Given the description of an element on the screen output the (x, y) to click on. 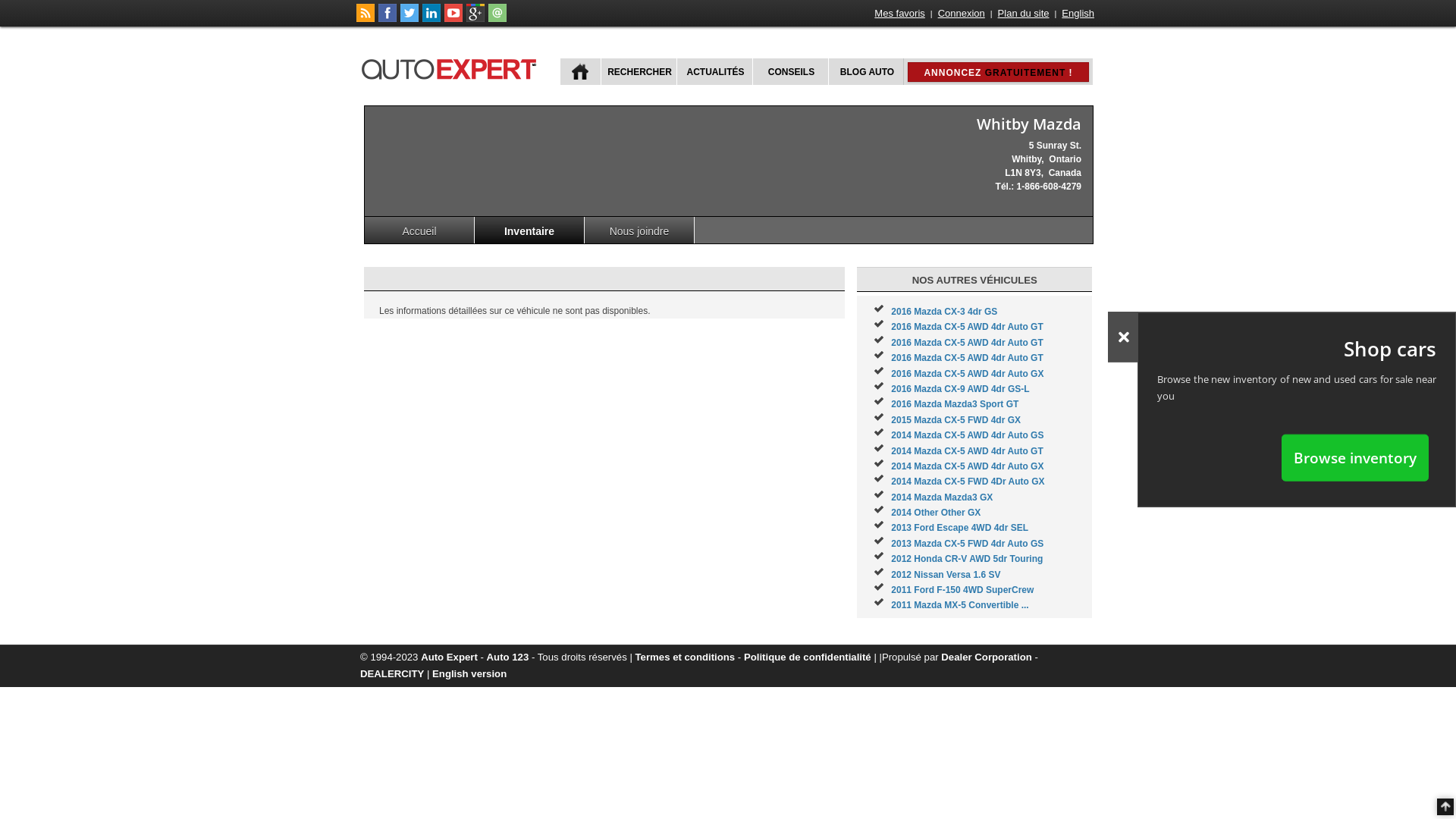
Mes favoris Element type: text (898, 13)
Suivez autoExpert.ca sur Facebook Element type: hover (387, 18)
Plan du site Element type: text (1023, 13)
2016 Mazda CX-3 4dr GS Element type: text (944, 311)
Suivez autoExpert.ca sur Google Plus Element type: hover (475, 18)
2016 Mazda CX-5 AWD 4dr Auto GT Element type: text (966, 326)
2016 Mazda CX-9 AWD 4dr GS-L Element type: text (960, 388)
English Element type: text (1077, 13)
Auto Expert Element type: text (448, 656)
2011 Mazda MX-5 Convertible ... Element type: text (959, 604)
BLOG AUTO Element type: text (865, 71)
2016 Mazda CX-5 AWD 4dr Auto GX Element type: text (967, 373)
2014 Mazda CX-5 AWD 4dr Auto GX Element type: text (967, 466)
2013 Mazda CX-5 FWD 4dr Auto GS Element type: text (967, 543)
Nous joindre Element type: text (639, 229)
2012 Honda CR-V AWD 5dr Touring Element type: text (966, 558)
English version Element type: text (469, 673)
Suivez Publications Le Guide Inc. sur LinkedIn Element type: hover (431, 18)
DEALERCITY Element type: text (391, 673)
ANNONCEZ GRATUITEMENT ! Element type: text (997, 71)
RECHERCHER Element type: text (637, 71)
2013 Ford Escape 4WD 4dr SEL Element type: text (959, 527)
2014 Mazda CX-5 AWD 4dr Auto GT Element type: text (966, 450)
Dealer Corporation Element type: text (986, 656)
autoExpert.ca Element type: text (451, 66)
2014 Mazda CX-5 FWD 4Dr Auto GX Element type: text (967, 481)
Accueil Element type: text (419, 229)
Connexion Element type: text (961, 13)
2015 Mazda CX-5 FWD 4dr GX Element type: text (955, 419)
2011 Ford F-150 4WD SuperCrew Element type: text (962, 589)
Suivez autoExpert.ca sur Youtube Element type: hover (453, 18)
2016 Mazda Mazda3 Sport GT Element type: text (954, 403)
Joindre autoExpert.ca Element type: hover (497, 18)
2014 Other Other GX Element type: text (935, 512)
2016 Mazda CX-5 AWD 4dr Auto GT Element type: text (966, 357)
Auto 123 Element type: text (507, 656)
2014 Mazda Mazda3 GX Element type: text (941, 497)
2014 Mazda CX-5 AWD 4dr Auto GS Element type: text (967, 434)
CONSEILS Element type: text (789, 71)
Browse inventory Element type: text (1354, 457)
Inventaire Element type: text (529, 229)
2016 Mazda CX-5 AWD 4dr Auto GT Element type: text (966, 342)
Suivez autoExpert.ca sur Twitter Element type: hover (409, 18)
ACCUEIL Element type: text (580, 71)
2012 Nissan Versa 1.6 SV Element type: text (945, 574)
Termes et conditions Element type: text (685, 656)
